Given the description of an element on the screen output the (x, y) to click on. 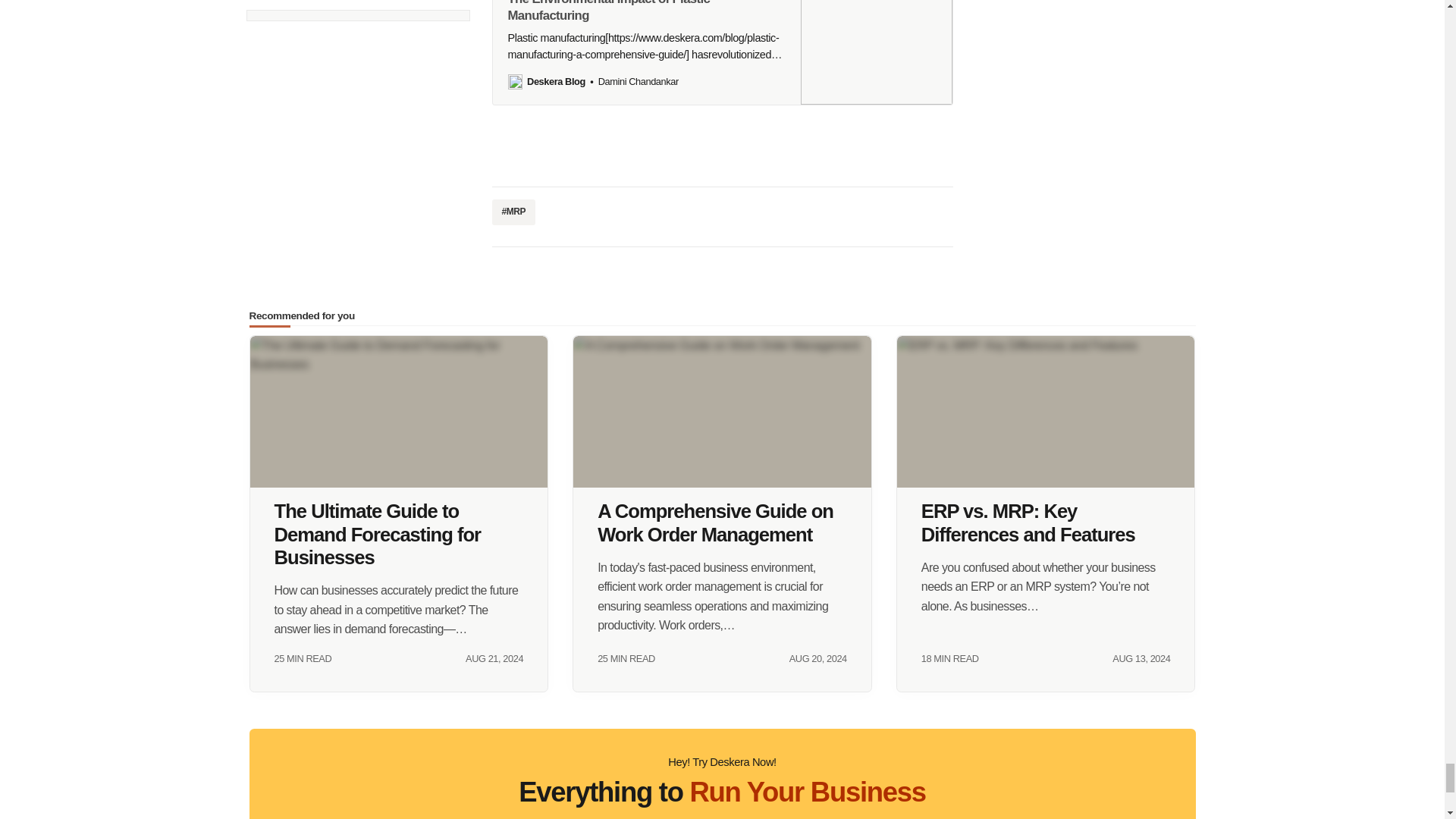
A Comprehensive Guide on Work Order Management (721, 411)
ERP vs. MRP: Key Differences and Features (1045, 411)
The Ultimate Guide to Demand Forecasting for Businesses (399, 411)
MRP (513, 211)
